Given the description of an element on the screen output the (x, y) to click on. 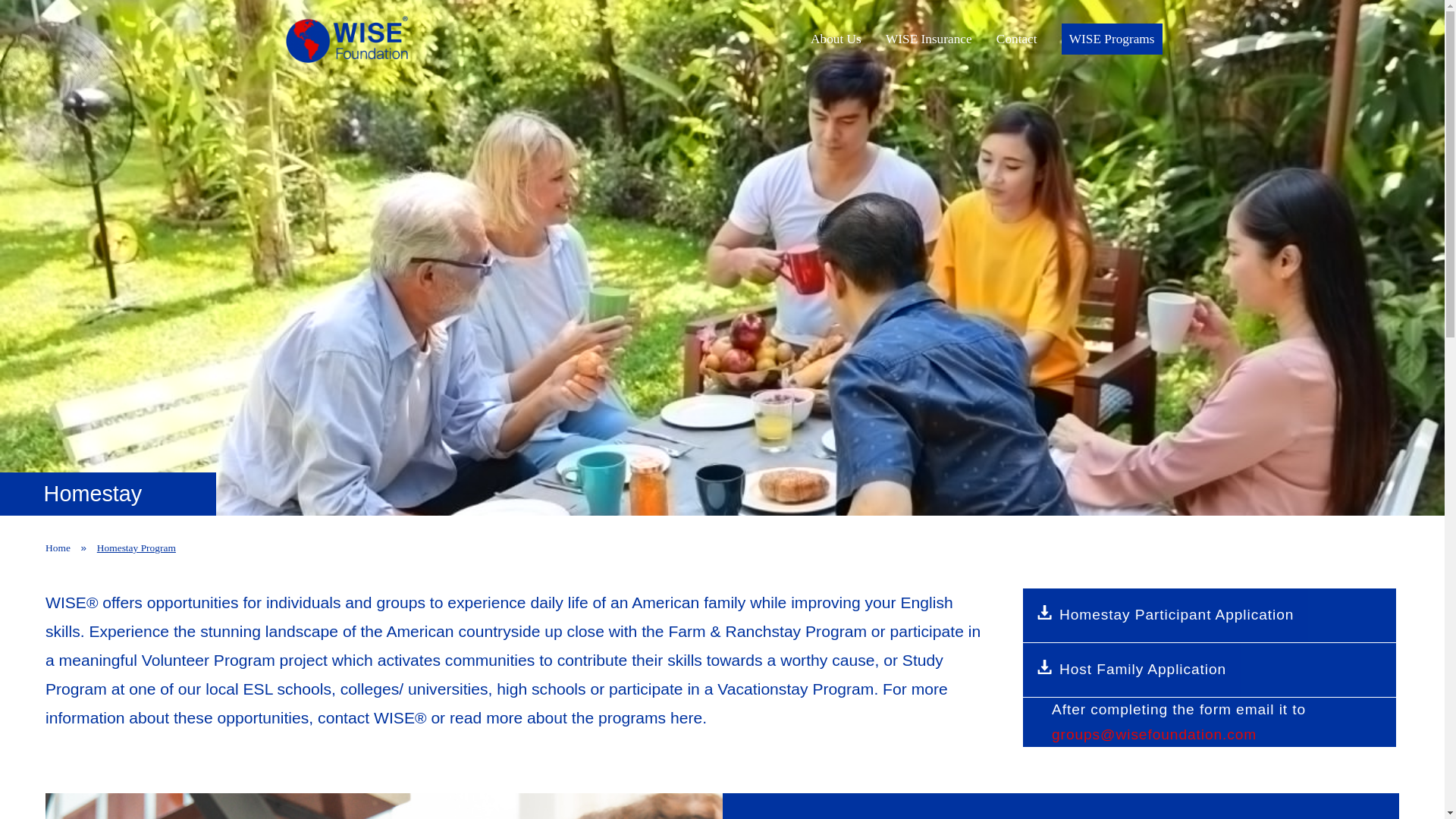
Home (61, 547)
Homestay Participant Application (1165, 615)
About Us (836, 38)
Host Family Application (1132, 669)
Contact (1017, 38)
WISE Insurance (929, 38)
WISE Programs (1111, 38)
